Given the description of an element on the screen output the (x, y) to click on. 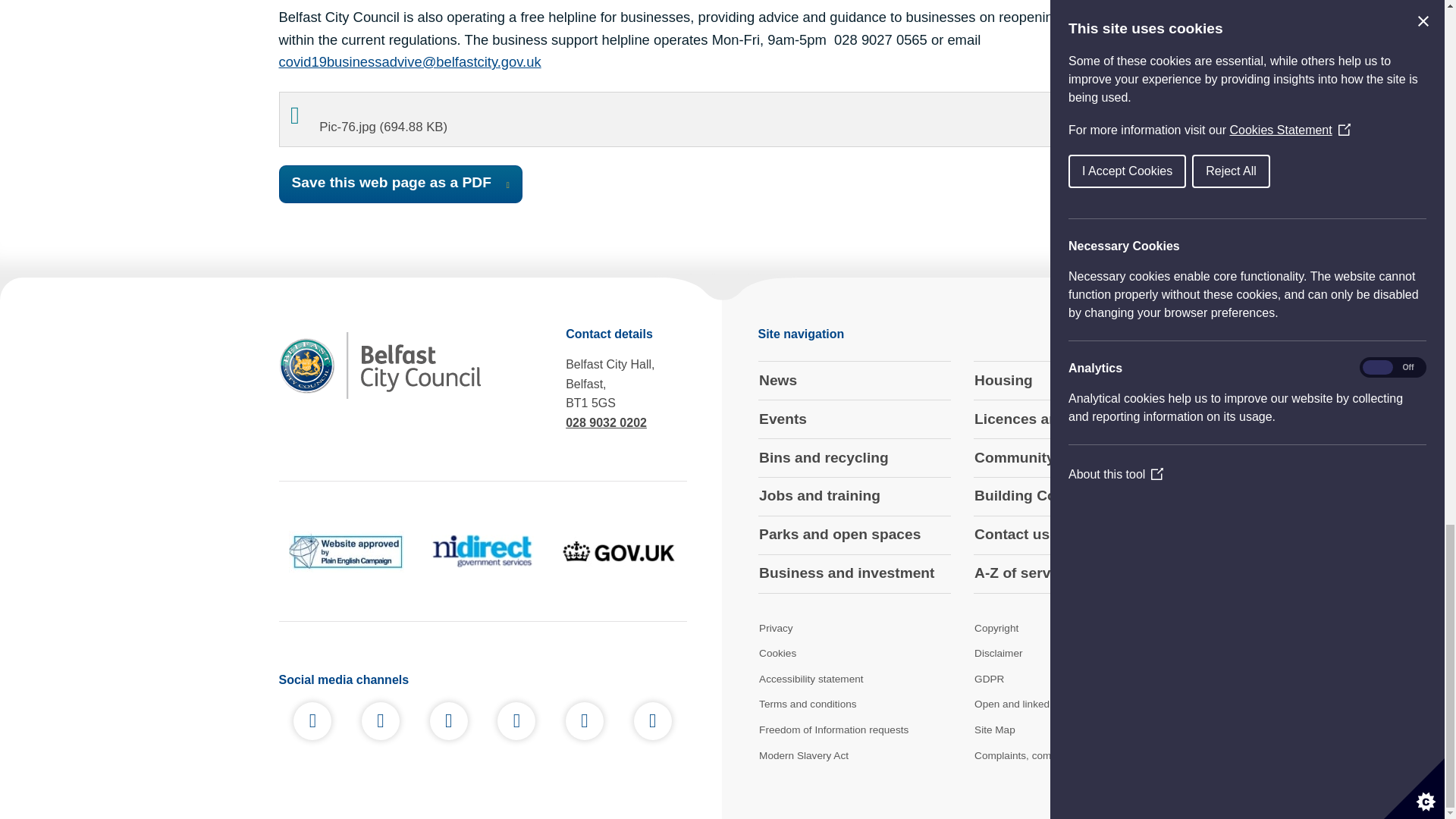
Pic-76.jpg (721, 119)
